Given the description of an element on the screen output the (x, y) to click on. 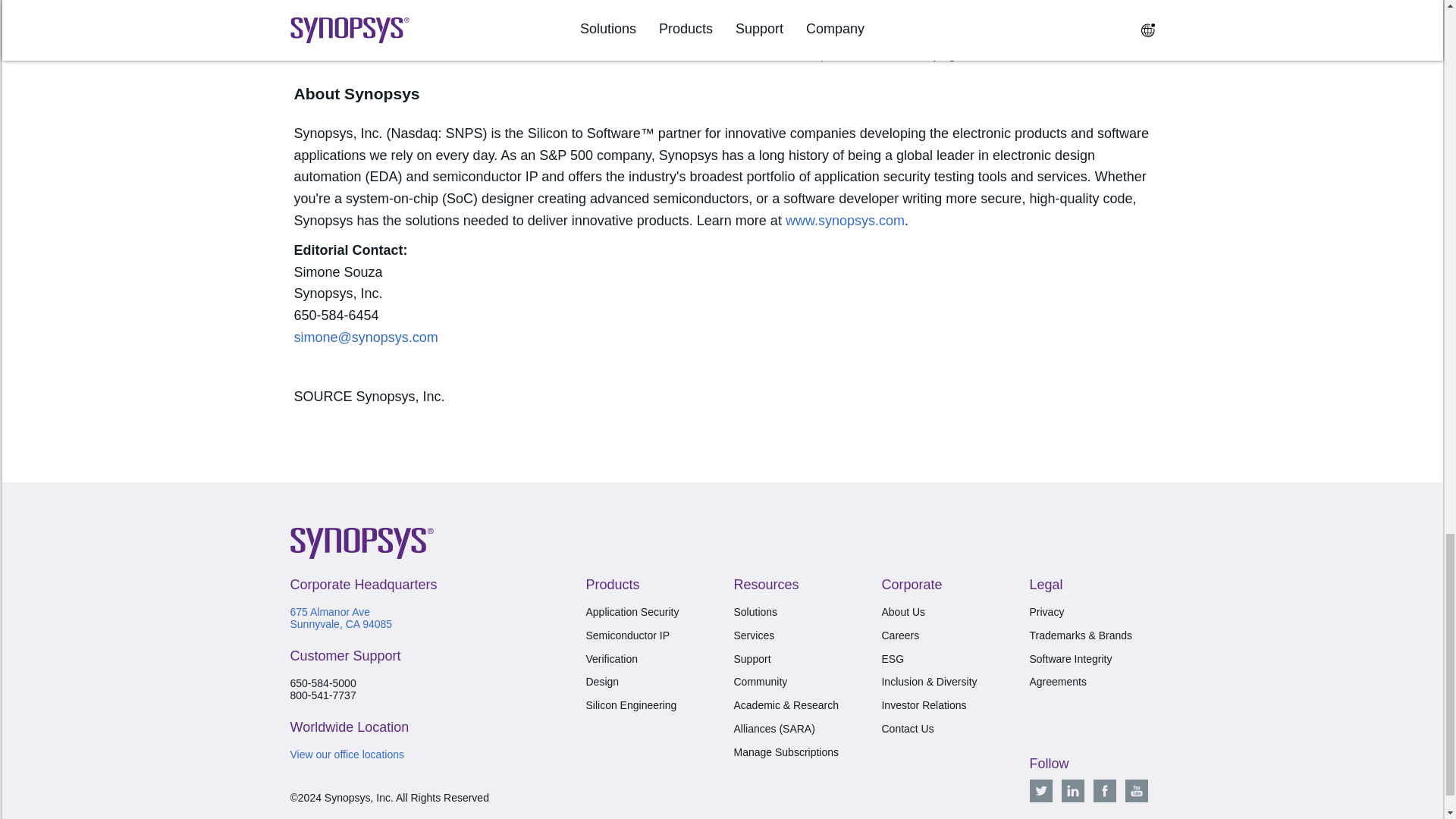
Facebook (1104, 790)
Linkedin (1072, 790)
Twitter (1040, 790)
